Given the description of an element on the screen output the (x, y) to click on. 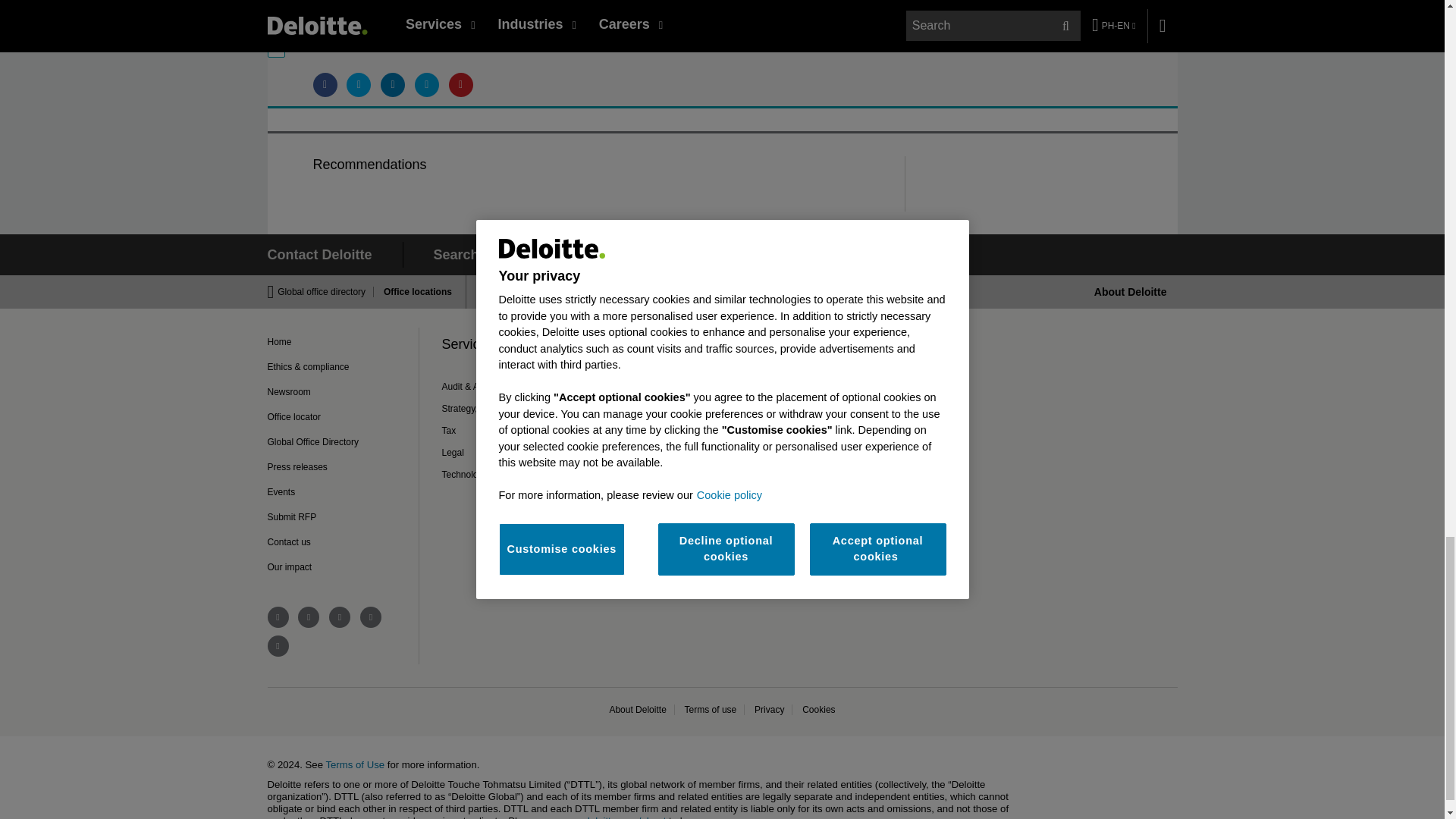
About Deloitte (1130, 291)
Office locations (413, 291)
Share via Facebook (324, 84)
Share via LinkedIn (392, 84)
Share via Pinterest (460, 84)
Share via Email (426, 84)
Share via Twitter (358, 84)
Global office directory (326, 291)
